Given the description of an element on the screen output the (x, y) to click on. 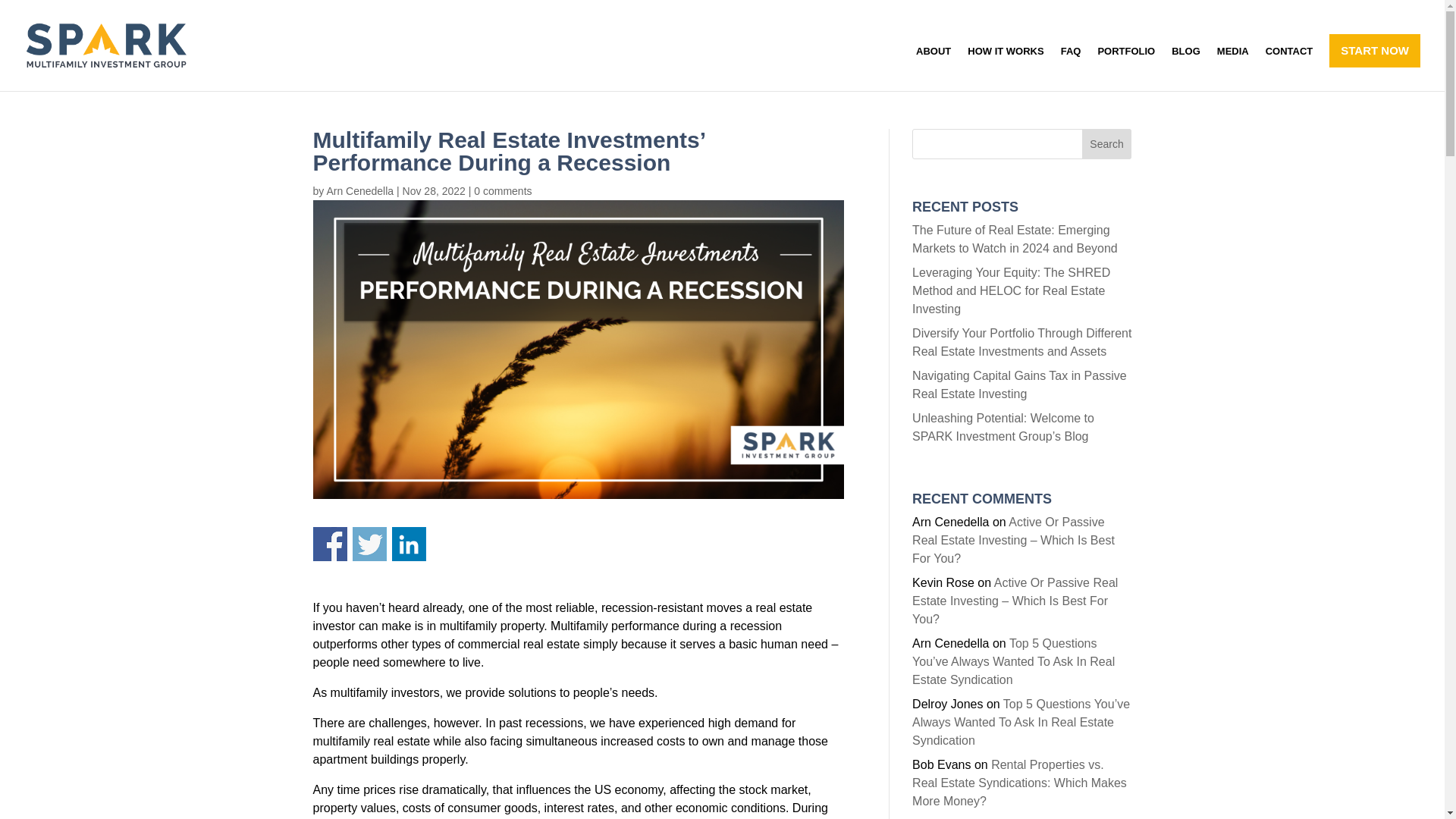
Posts by Arn Cenedella (359, 191)
PORTFOLIO (1125, 67)
Search (1106, 143)
START NOW (1375, 50)
CONTACT (1289, 67)
Arn Cenedella (359, 191)
Share on Facebook (329, 544)
Share on Linkedin (408, 544)
HOW IT WORKS (1005, 67)
Share on Twitter (368, 544)
